Given the description of an element on the screen output the (x, y) to click on. 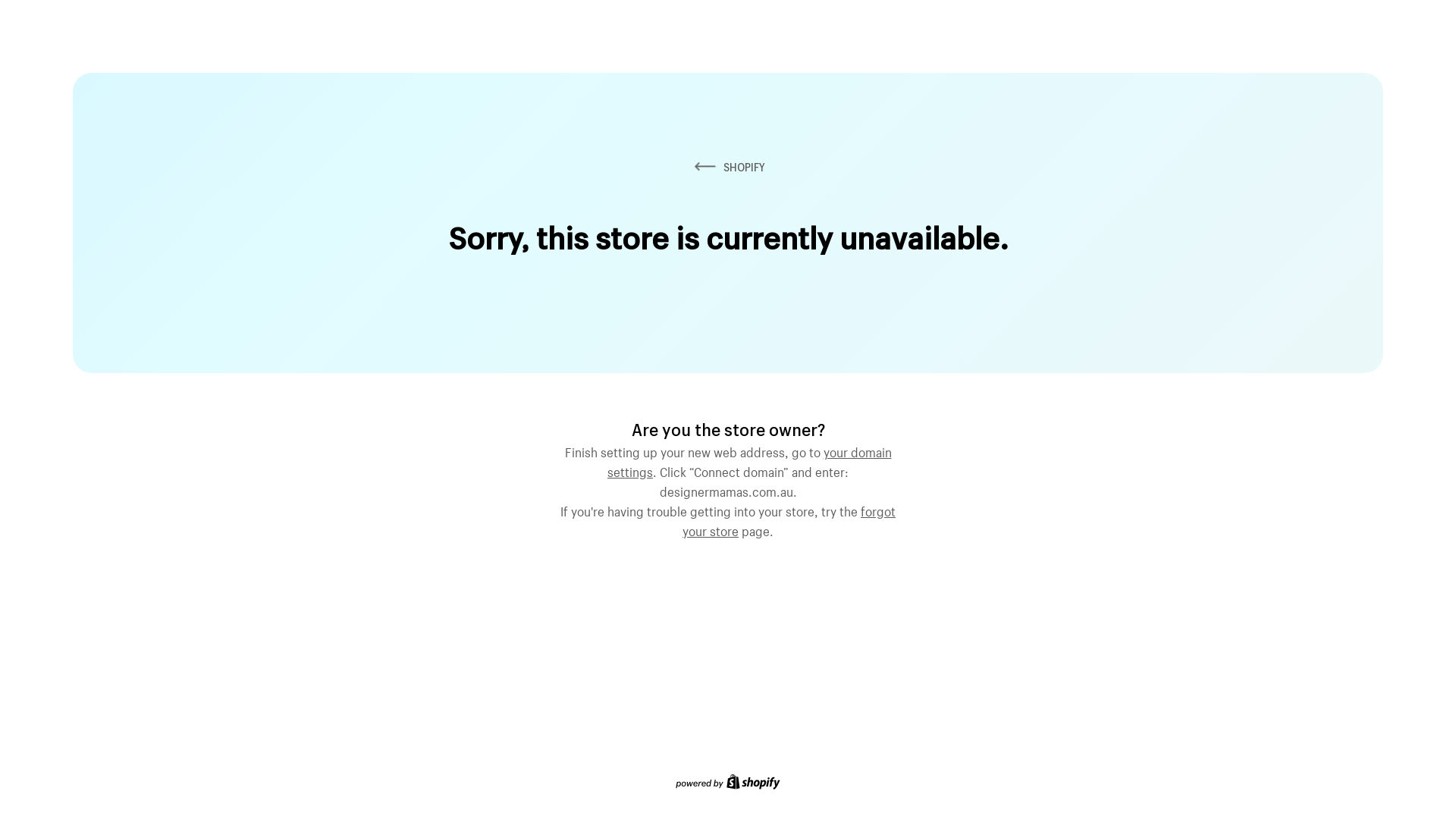
SHOPIFY Element type: text (727, 167)
forgot your store Element type: text (788, 519)
your domain settings Element type: text (749, 460)
